Given the description of an element on the screen output the (x, y) to click on. 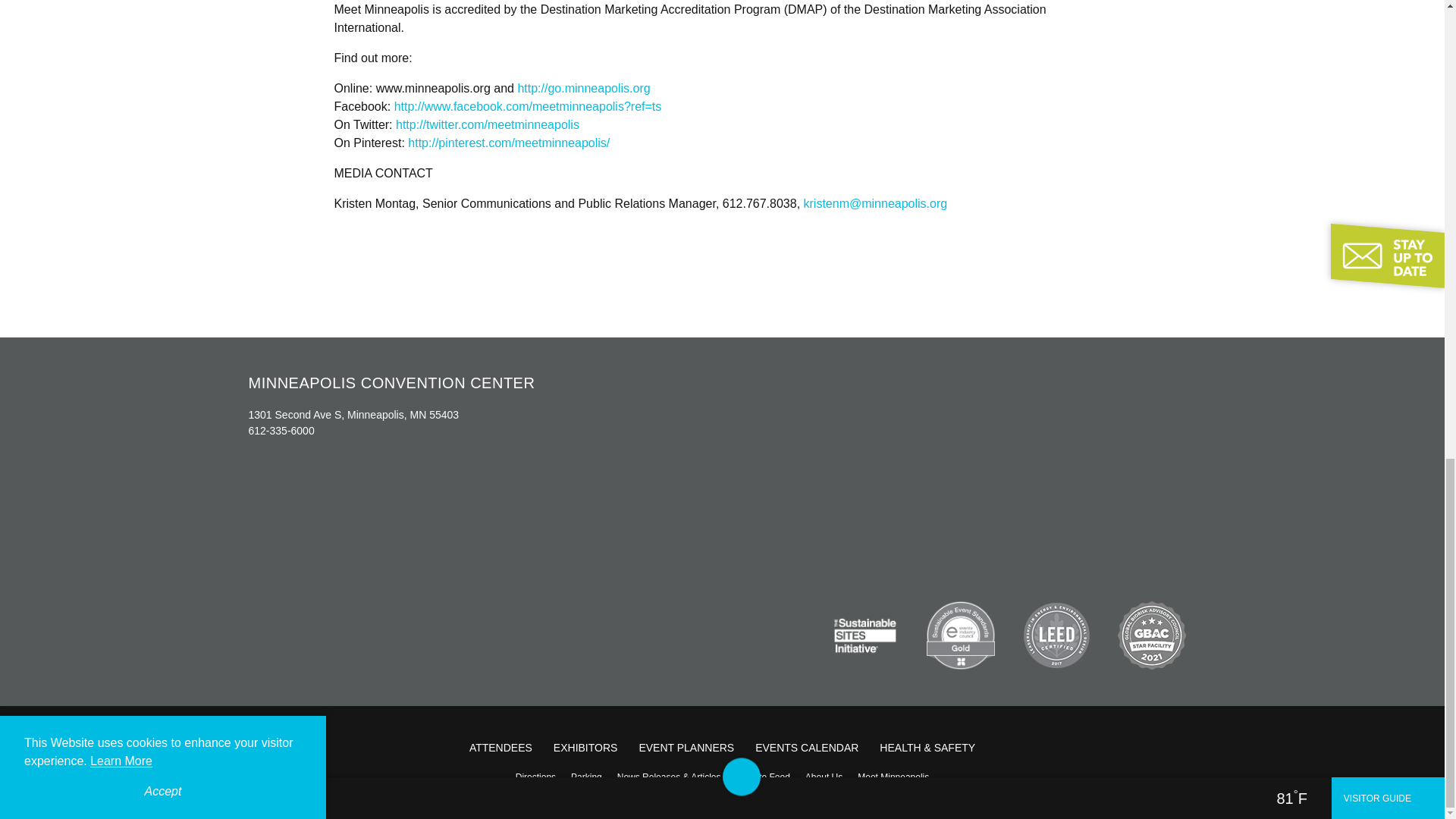
EVENTS CALENDAR (806, 747)
Go to Leed Certified (1056, 635)
Directions (535, 776)
EVENT PLANNERS (685, 747)
Go to events council (960, 635)
EXHIBITORS (585, 747)
ATTENDEES (500, 747)
Go to Sustainable SITES (865, 635)
Go to GBAC Start Accreditation (1152, 635)
On-Site Food (762, 776)
About Us (823, 776)
Parking (586, 776)
